Given the description of an element on the screen output the (x, y) to click on. 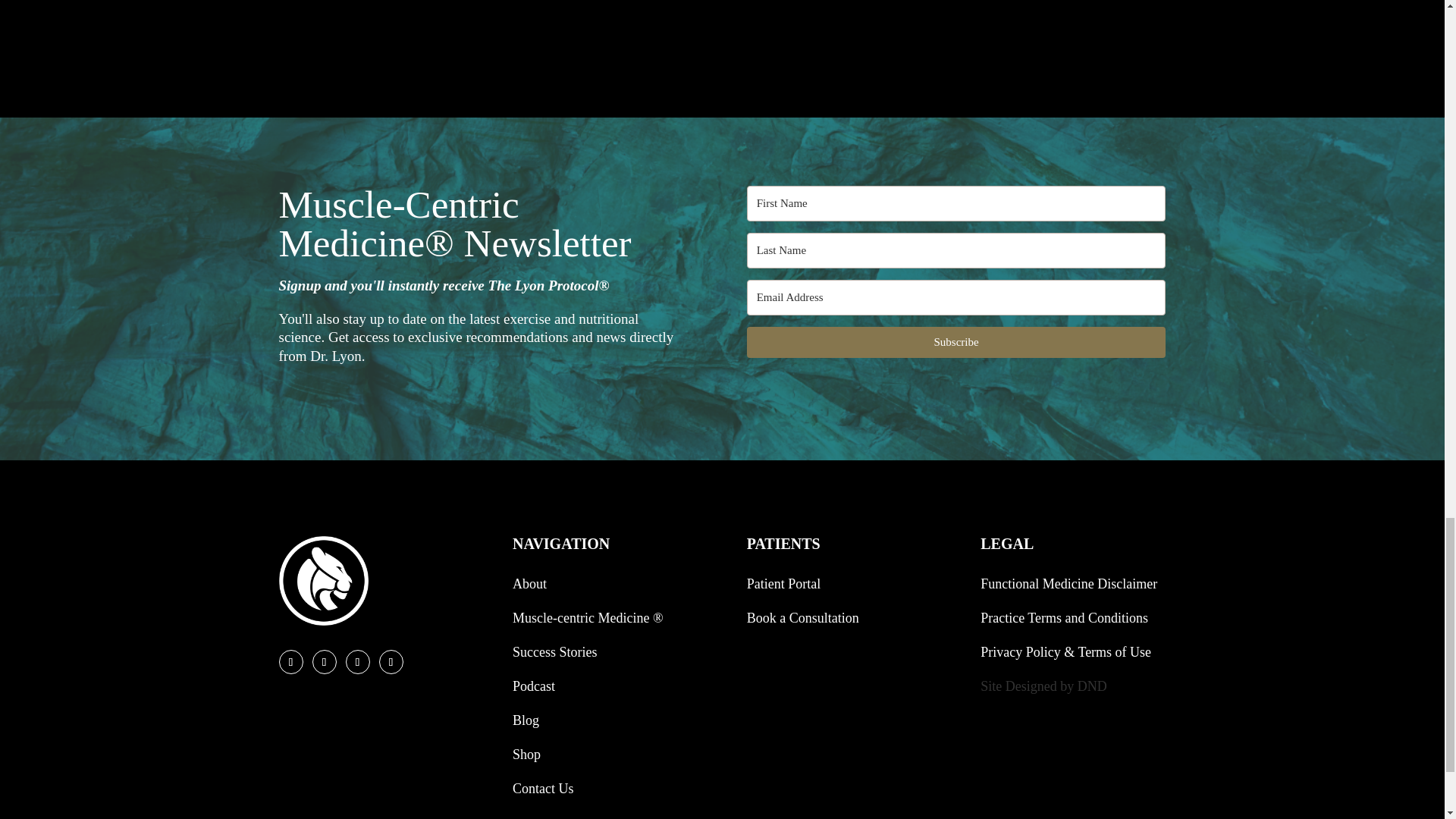
Follow on X (324, 662)
YouTube video player (722, 23)
Follow on Youtube (390, 662)
Follow on Facebook (290, 662)
Lion---White-1 (323, 580)
Follow on Instagram (357, 662)
